Given the description of an element on the screen output the (x, y) to click on. 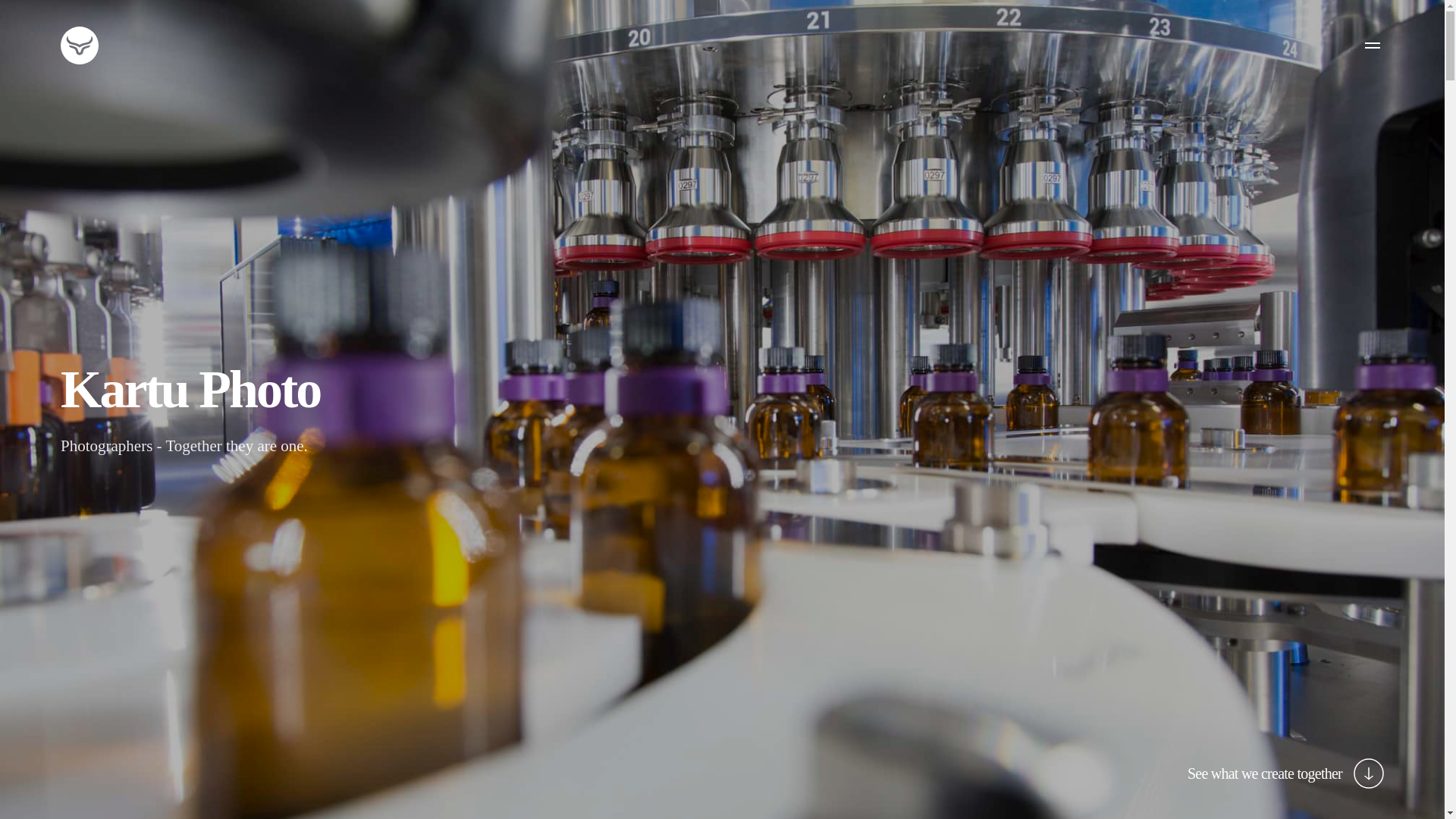
See what we create together (1286, 773)
Search (46, 30)
See what we create together (1286, 773)
